Given the description of an element on the screen output the (x, y) to click on. 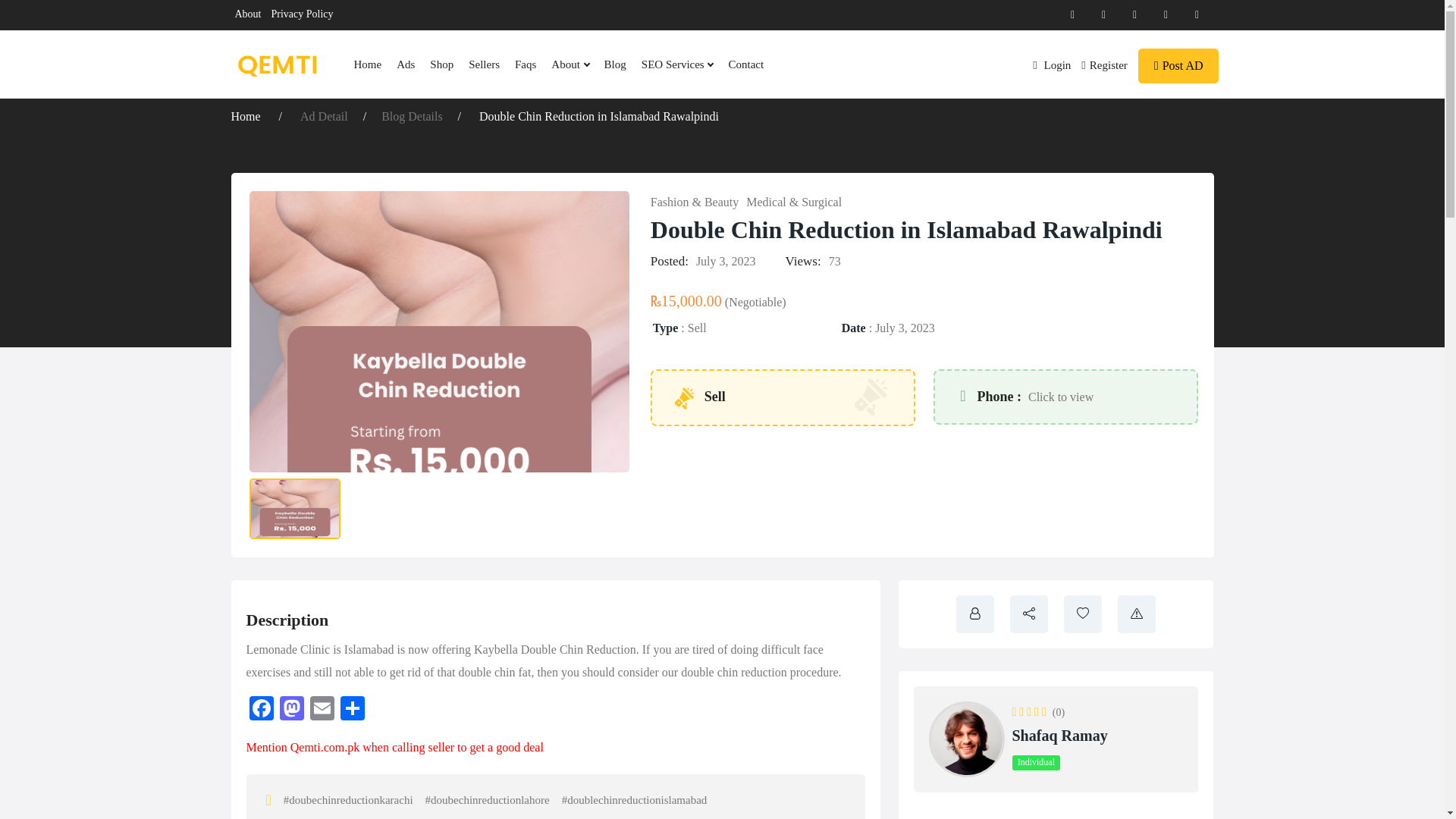
Mastodon (290, 709)
Views: (803, 260)
Phone : Click to view (1026, 396)
doublechinreductionislamabad (634, 799)
SEO Services (676, 64)
Ad Detail (323, 115)
Facebook (261, 709)
Register (1103, 64)
Blog Details (411, 115)
Login (1051, 64)
Facebook (261, 709)
Double Chin Reduction in Islamabad Rawalpindi (599, 115)
doubechinreductionkarachi (348, 799)
Home (246, 115)
About (248, 13)
